Given the description of an element on the screen output the (x, y) to click on. 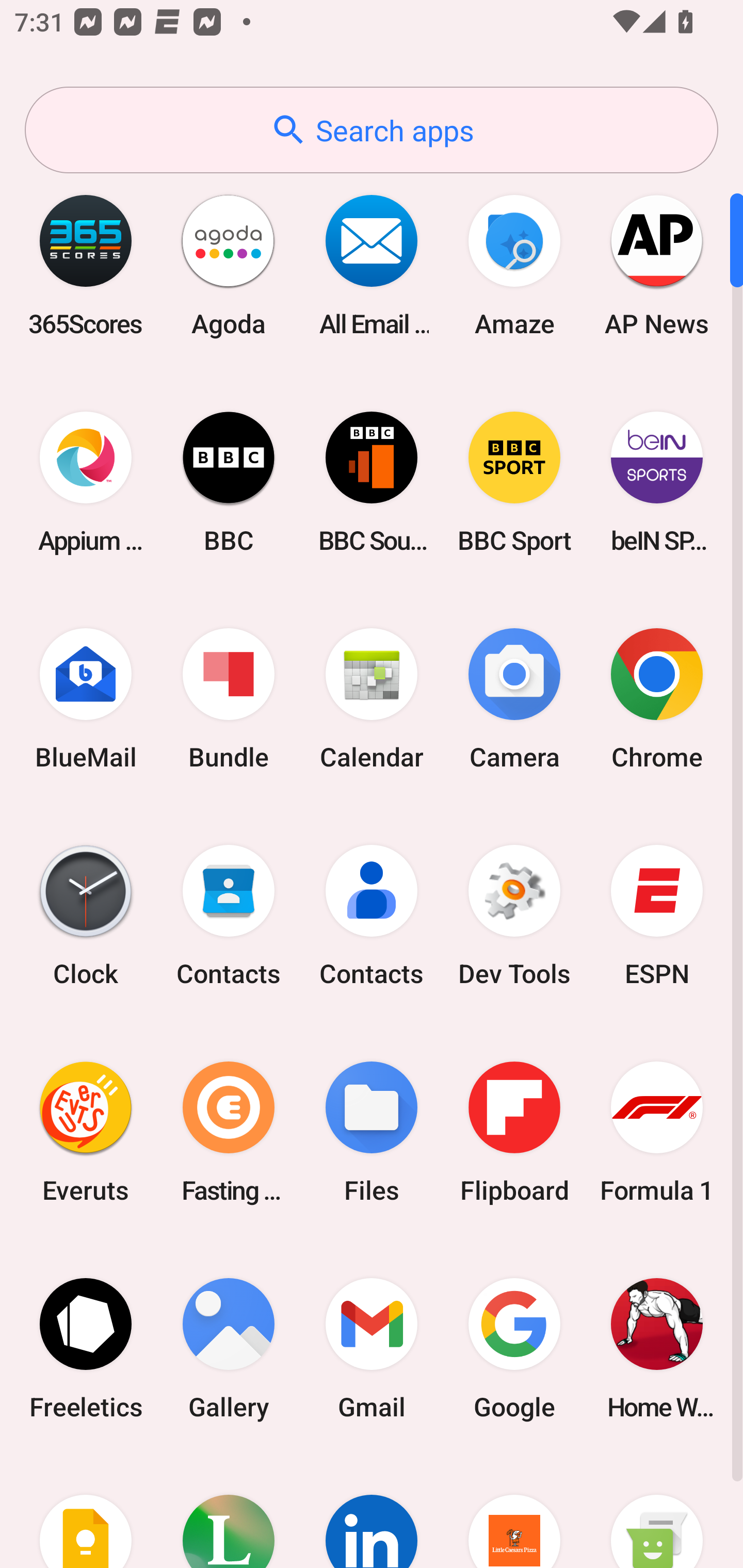
  Search apps (371, 130)
365Scores (85, 264)
Agoda (228, 264)
All Email Connect (371, 264)
Amaze (514, 264)
AP News (656, 264)
Appium Settings (85, 482)
BBC (228, 482)
BBC Sounds (371, 482)
BBC Sport (514, 482)
beIN SPORTS (656, 482)
BlueMail (85, 699)
Bundle (228, 699)
Calendar (371, 699)
Camera (514, 699)
Chrome (656, 699)
Clock (85, 915)
Contacts (228, 915)
Contacts (371, 915)
Dev Tools (514, 915)
ESPN (656, 915)
Everuts (85, 1131)
Fasting Coach (228, 1131)
Files (371, 1131)
Flipboard (514, 1131)
Formula 1 (656, 1131)
Freeletics (85, 1348)
Gallery (228, 1348)
Gmail (371, 1348)
Google (514, 1348)
Home Workout (656, 1348)
Keep Notes (85, 1512)
Lifesum (228, 1512)
LinkedIn (371, 1512)
Little Caesars Pizza (514, 1512)
Messaging (656, 1512)
